Given the description of an element on the screen output the (x, y) to click on. 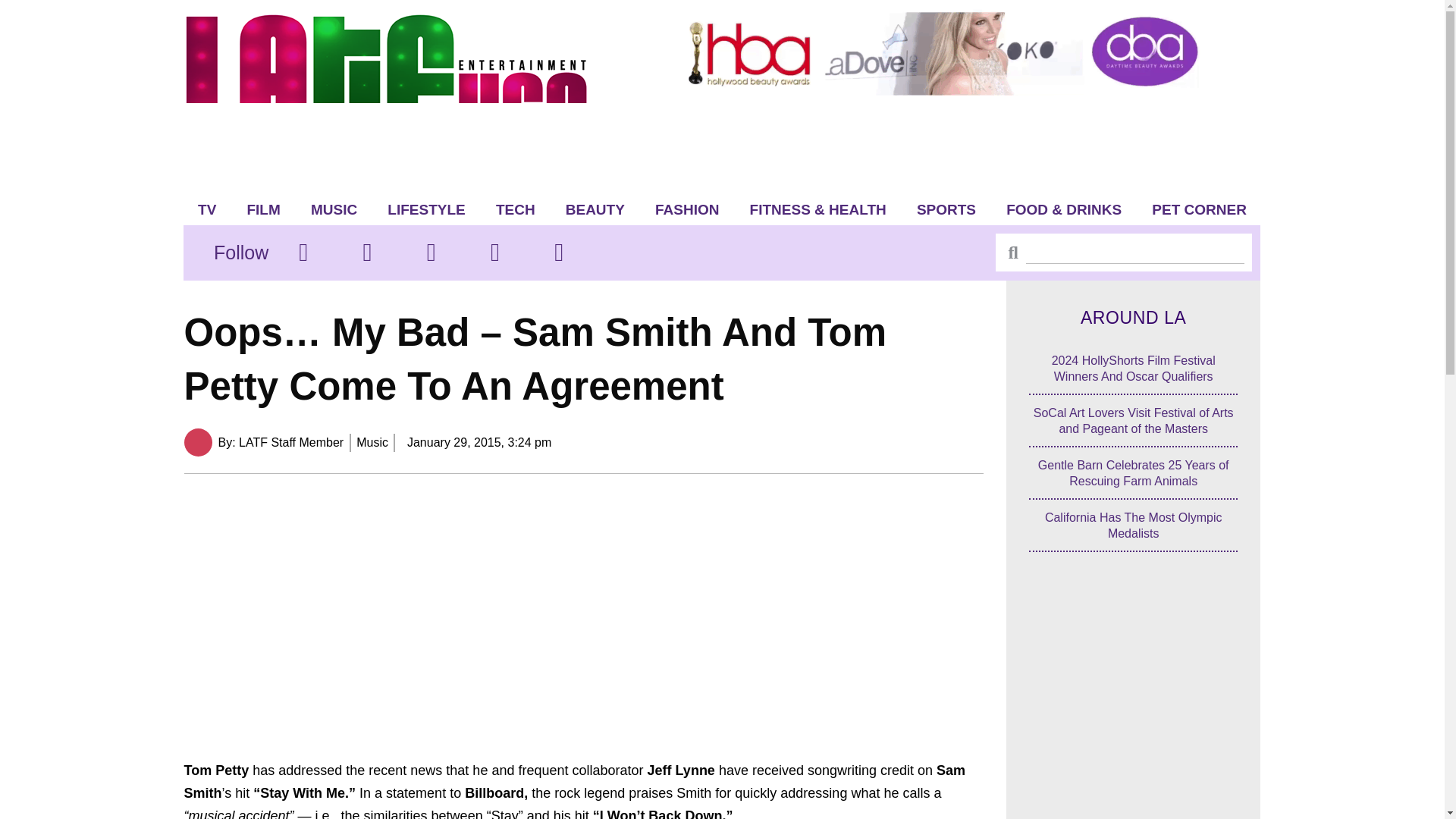
FASHION (687, 209)
SPORTS (946, 209)
BEAUTY (595, 209)
LIFESTYLE (426, 209)
FILM (263, 209)
PET CORNER (1199, 209)
TECH (515, 209)
TV (207, 209)
MUSIC (333, 209)
